Given the description of an element on the screen output the (x, y) to click on. 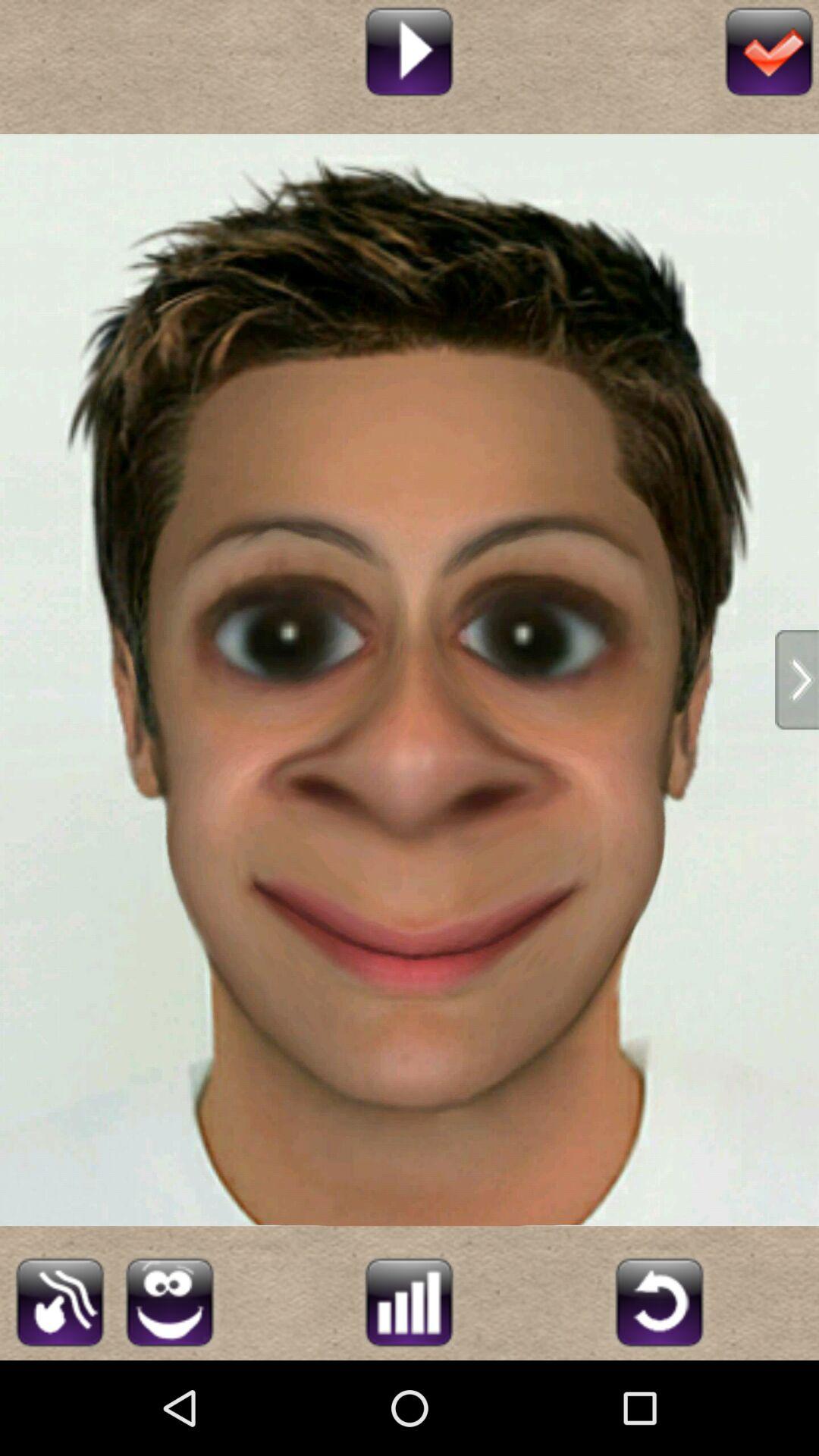
add graph (408, 1300)
